Given the description of an element on the screen output the (x, y) to click on. 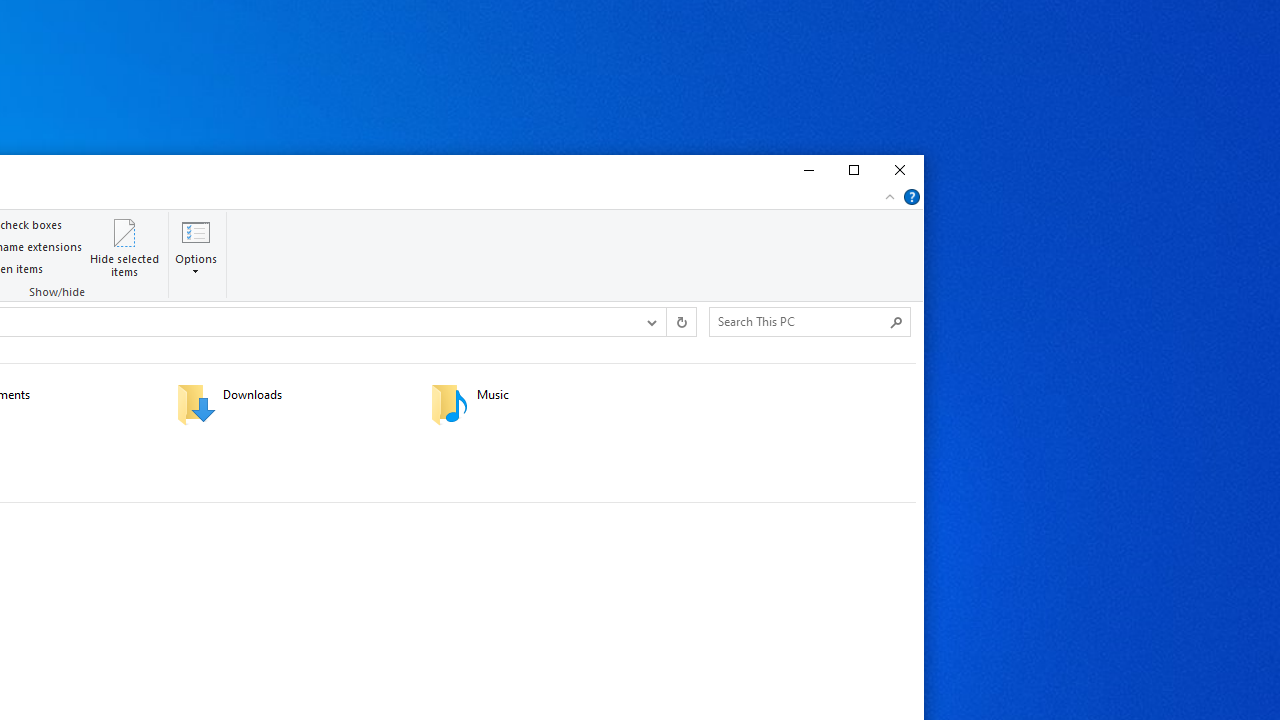
Address band toolbar (666, 321)
